Given the description of an element on the screen output the (x, y) to click on. 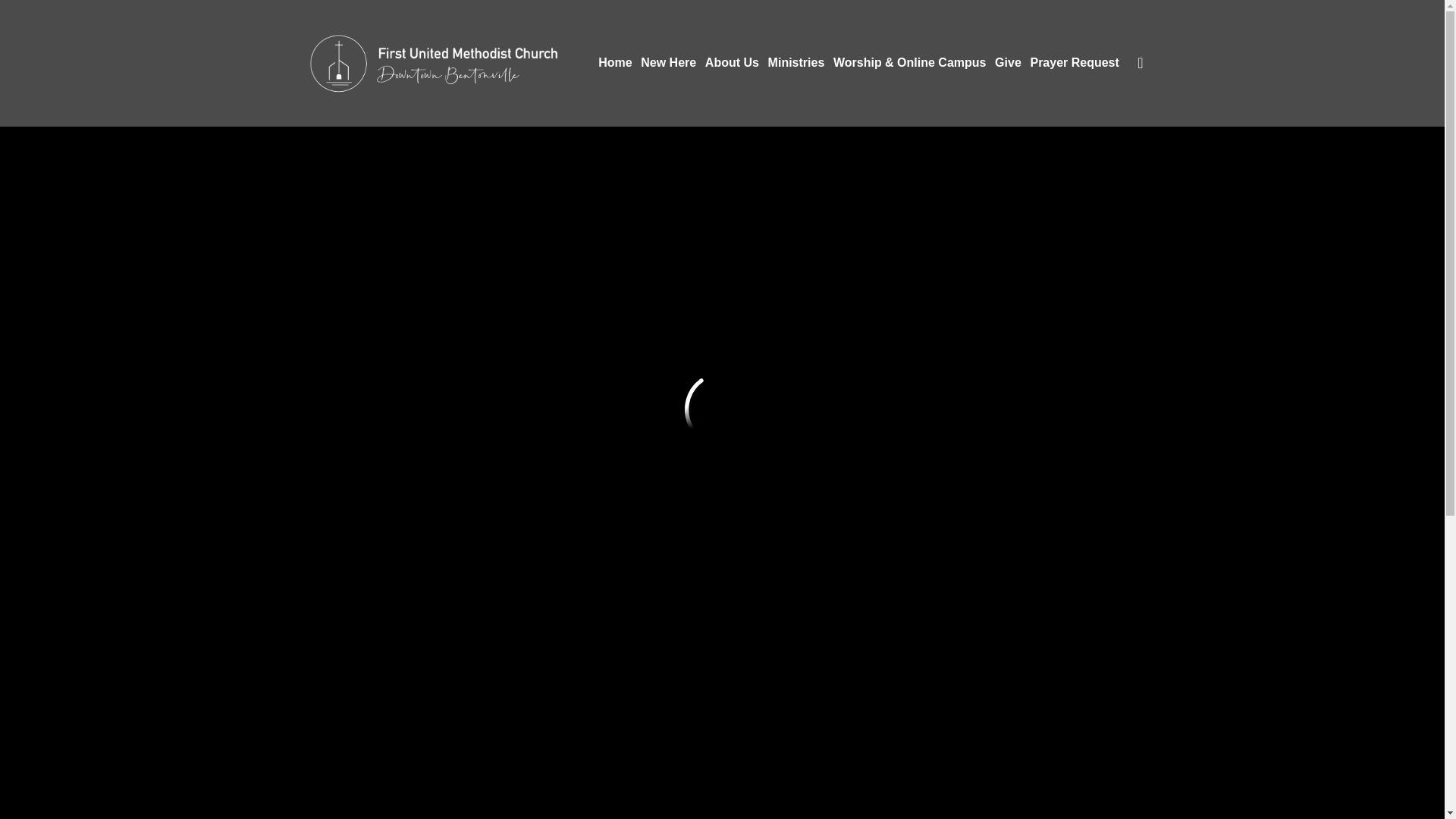
New Here (667, 62)
About Us (731, 62)
Prayer Request (1073, 62)
Ministries (796, 62)
